Given the description of an element on the screen output the (x, y) to click on. 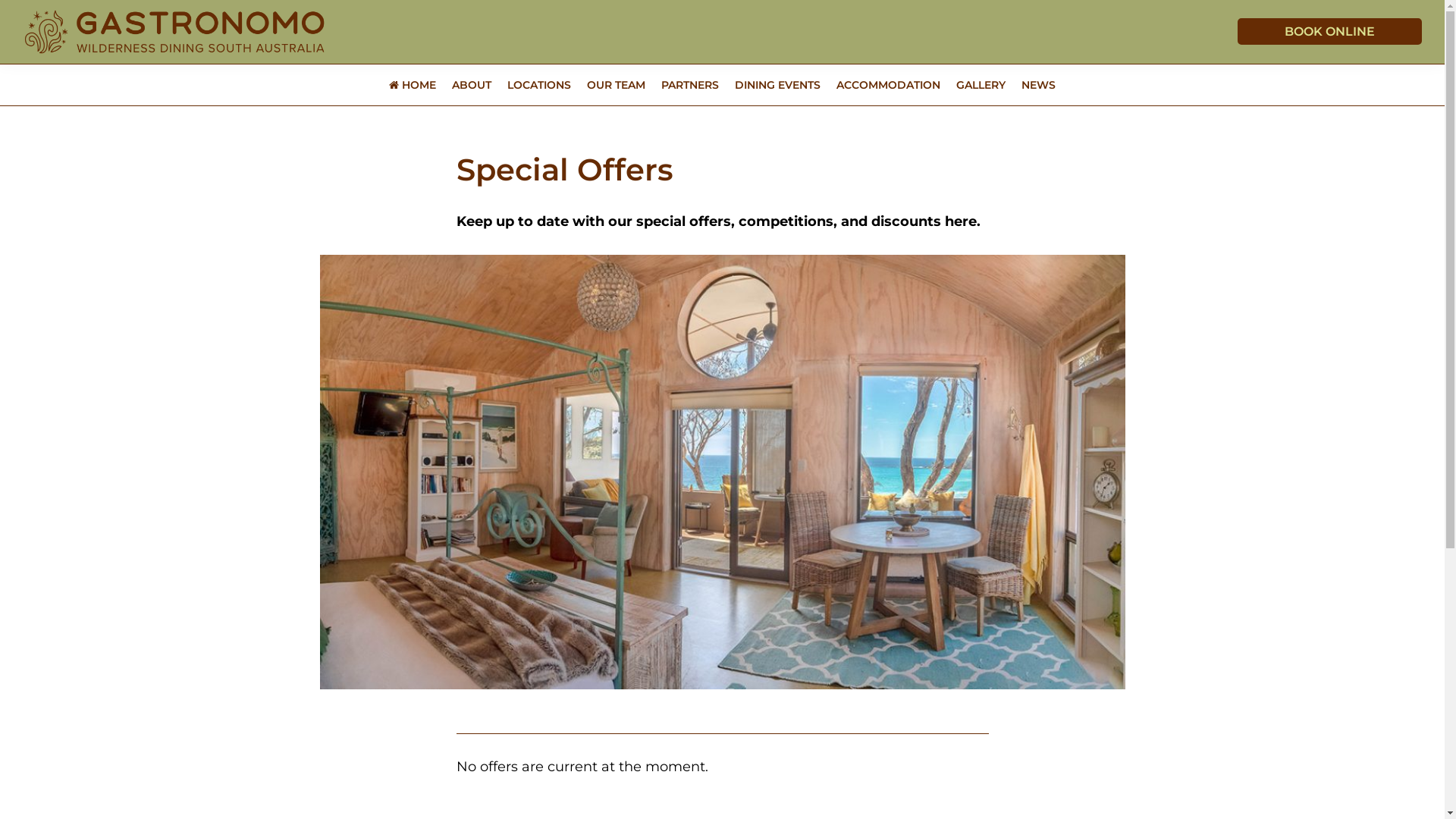
BOOK ONLINE Element type: text (1329, 31)
ABOUT Element type: text (471, 84)
LOCATIONS Element type: text (539, 84)
OUR TEAM Element type: text (615, 84)
ACCOMMODATION Element type: text (888, 84)
DINING EVENTS Element type: text (777, 84)
HOME Element type: text (412, 84)
PARTNERS Element type: text (689, 84)
Skip to primary navigation Element type: text (0, 0)
GALLERY Element type: text (980, 84)
NEWS Element type: text (1038, 84)
